Given the description of an element on the screen output the (x, y) to click on. 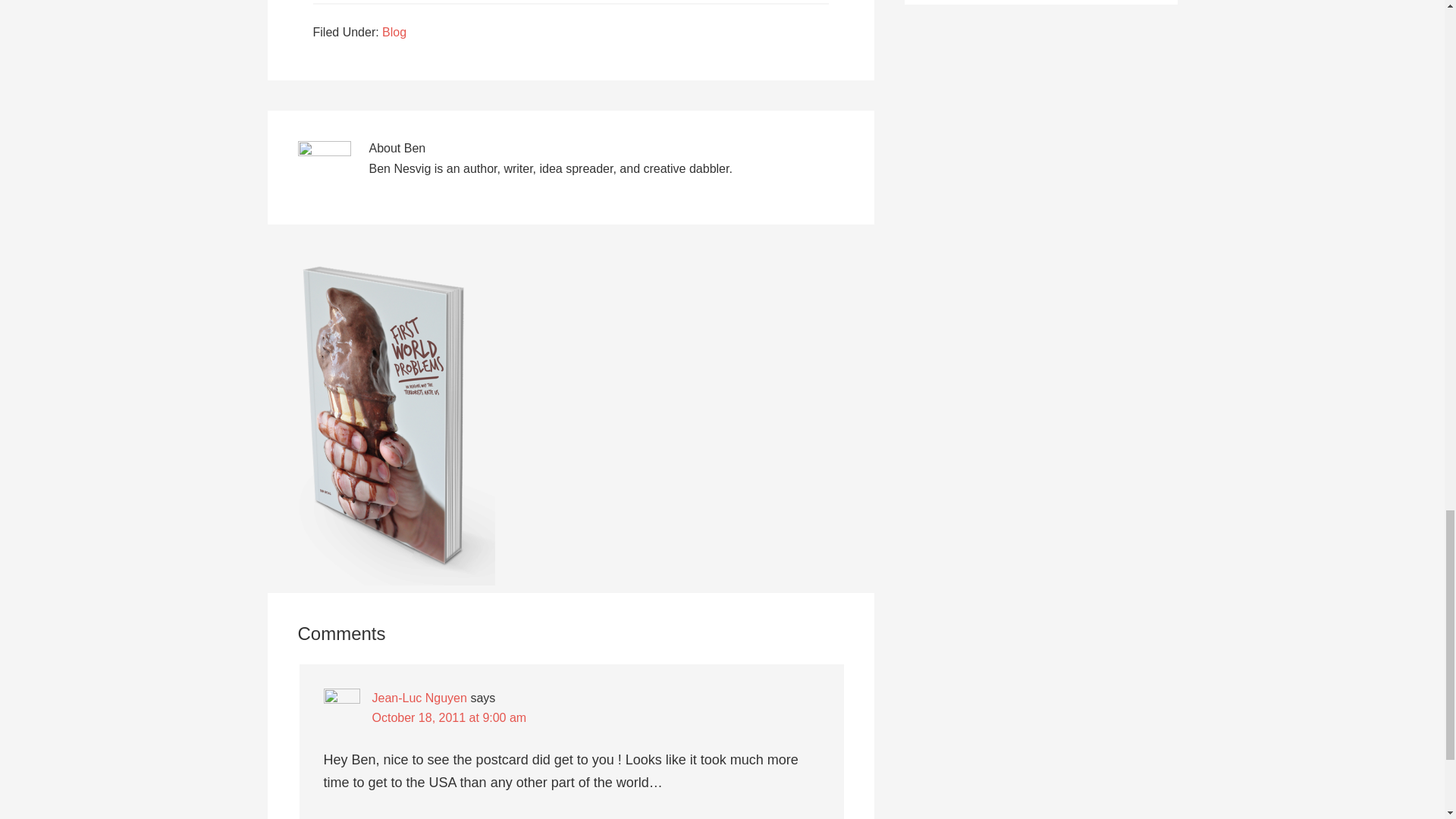
October 18, 2011 at 9:00 am (448, 717)
Jean-Luc Nguyen (418, 697)
Blog (393, 31)
